Given the description of an element on the screen output the (x, y) to click on. 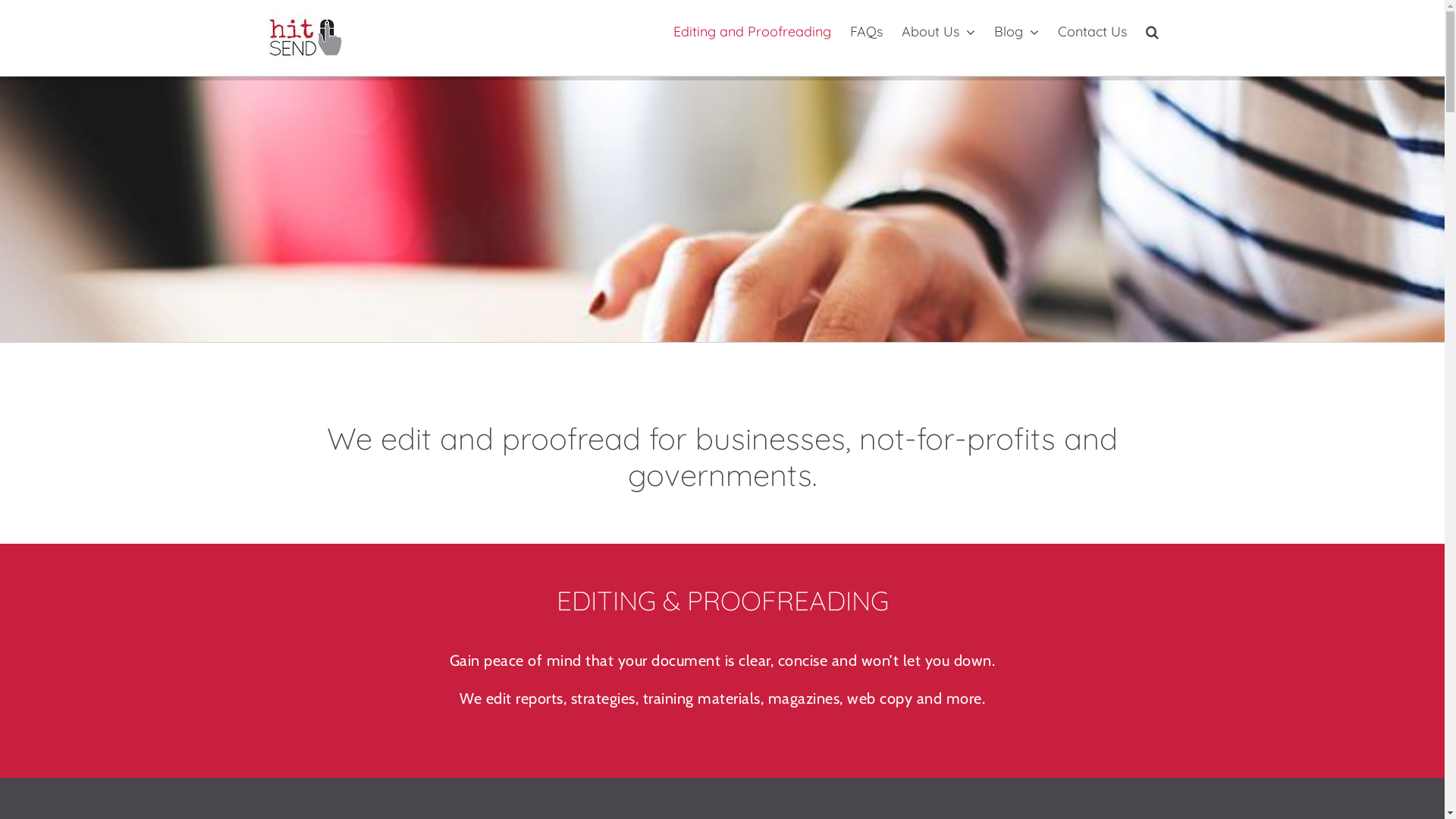
EDITING & PROOFREADING Element type: text (722, 600)
Search Element type: hover (1151, 31)
FAQs Element type: text (865, 31)
Contact Us Element type: text (1091, 31)
About Us Element type: text (937, 31)
Editing and Proofreading Element type: text (752, 31)
Blog Element type: text (1015, 31)
